Given the description of an element on the screen output the (x, y) to click on. 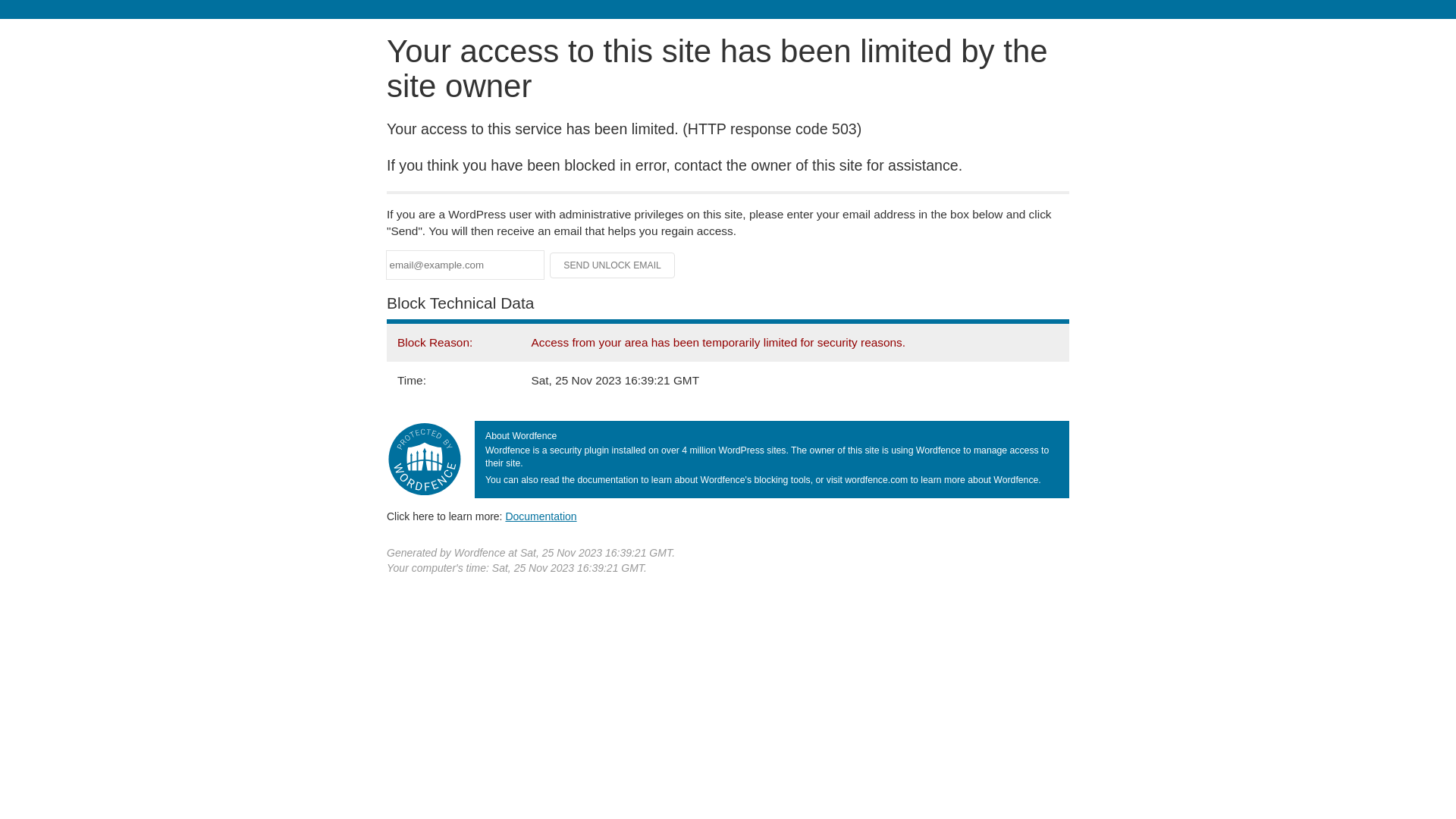
Documentation Element type: text (540, 516)
Send Unlock Email Element type: text (612, 265)
